Given the description of an element on the screen output the (x, y) to click on. 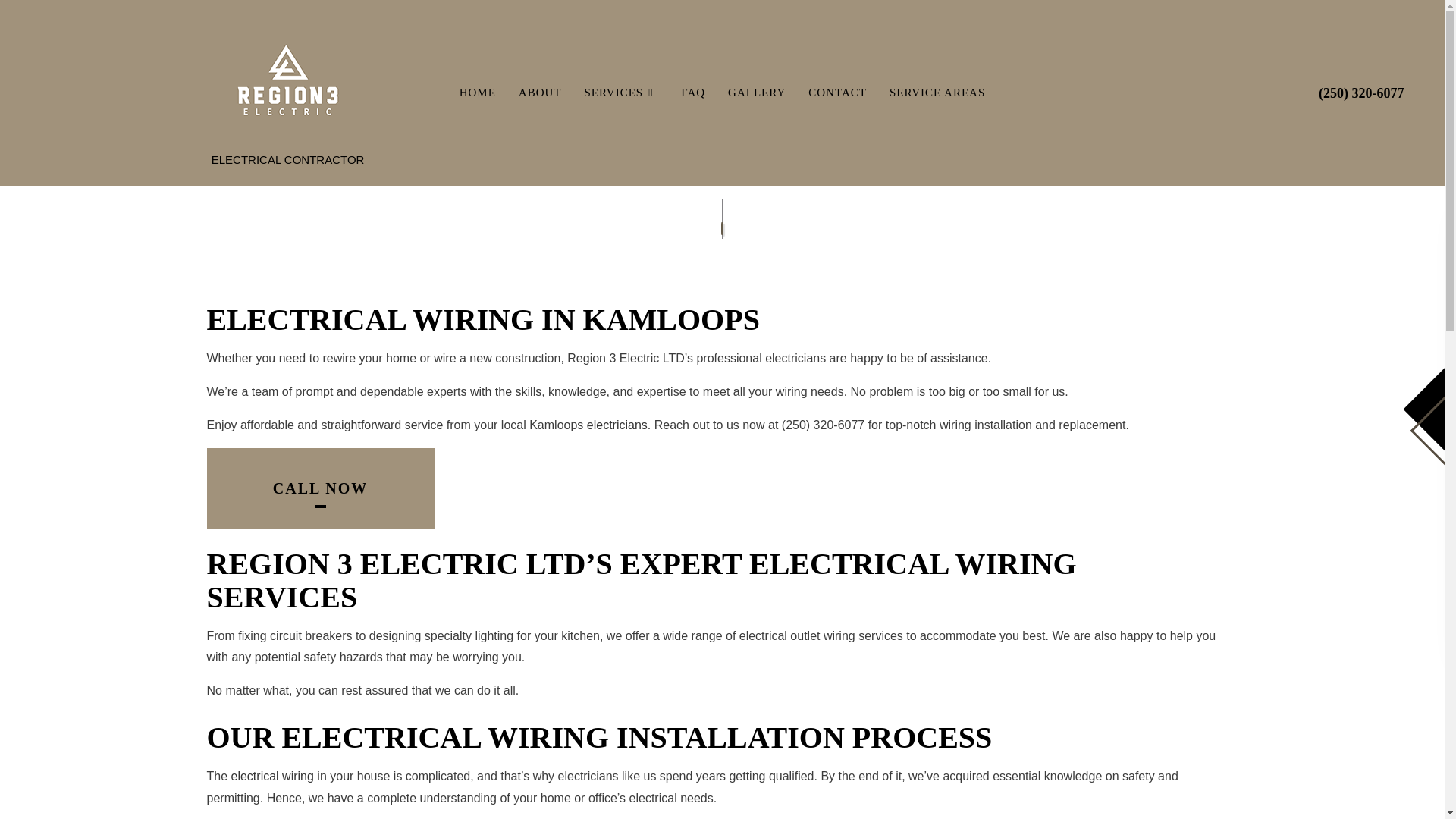
Electrical Wiring (272, 775)
SERVICES (621, 92)
ELECTRICAL WIRING (501, 226)
HOME (477, 92)
CEILING FAN INSTALLATION (501, 147)
ELECTRICAL REPAIRS (706, 200)
ELECTRICIAN (706, 226)
COMMERCIAL ELECTRICIAN (706, 147)
ABOUT (539, 92)
Region 3 Electric LTD (288, 82)
ELECTRICAL INSPECTION (706, 173)
ELECTRICAL PANEL UPGRADES (501, 200)
EMERGENCY ELECTRICIAN (501, 253)
Electrician (616, 424)
ELECTRICAL CONTRACTOR (501, 173)
